Given the description of an element on the screen output the (x, y) to click on. 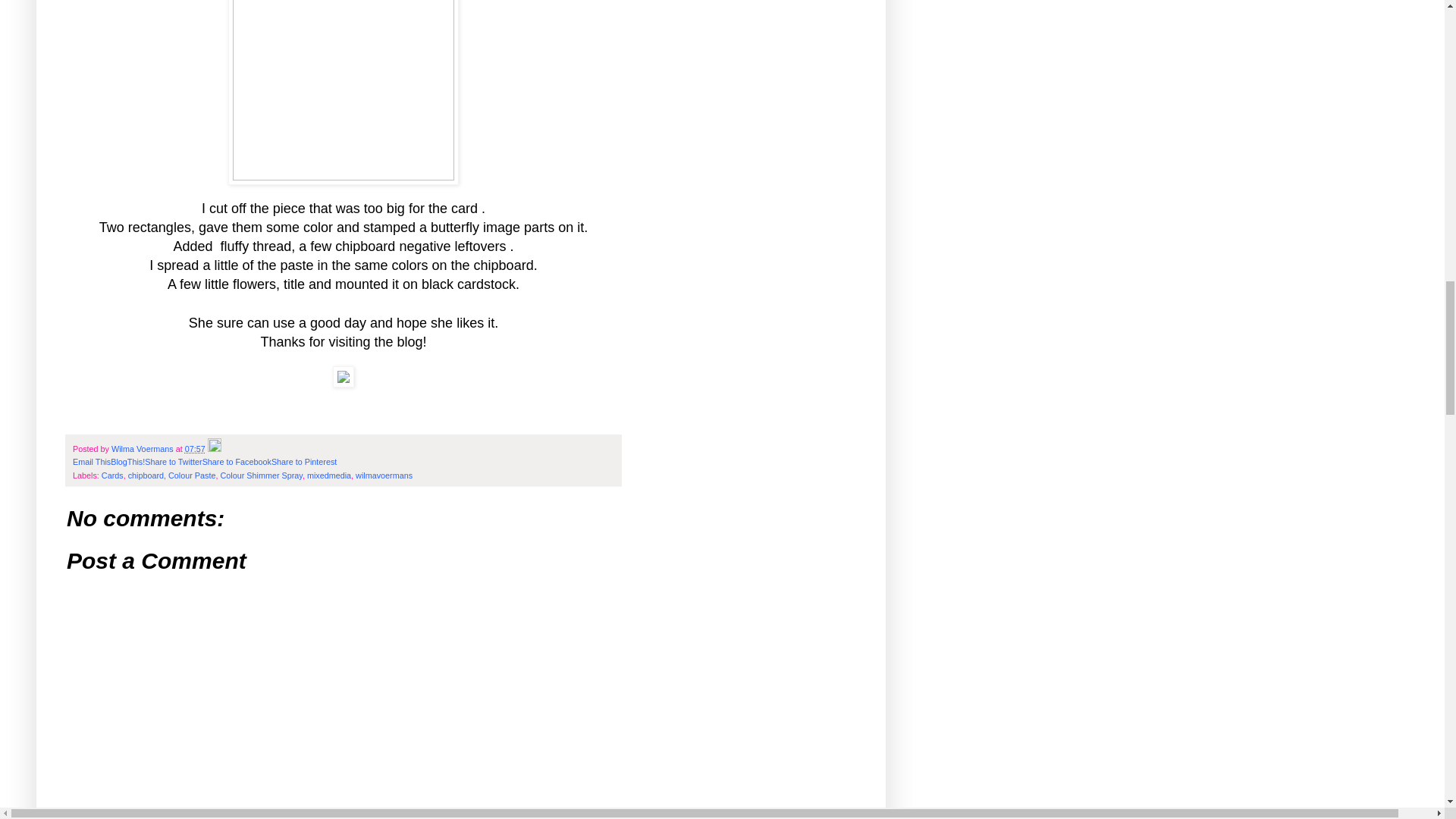
Wilma Voermans (144, 448)
BlogThis! (127, 461)
wilmavoermans (383, 474)
BlogThis! (127, 461)
Email This (91, 461)
author profile (144, 448)
Edit Post (214, 448)
Colour Shimmer Spray (260, 474)
Colour Paste (191, 474)
07:57 (194, 448)
chipboard (145, 474)
Share to Pinterest (303, 461)
Email This (91, 461)
Share to Pinterest (303, 461)
Share to Facebook (236, 461)
